Given the description of an element on the screen output the (x, y) to click on. 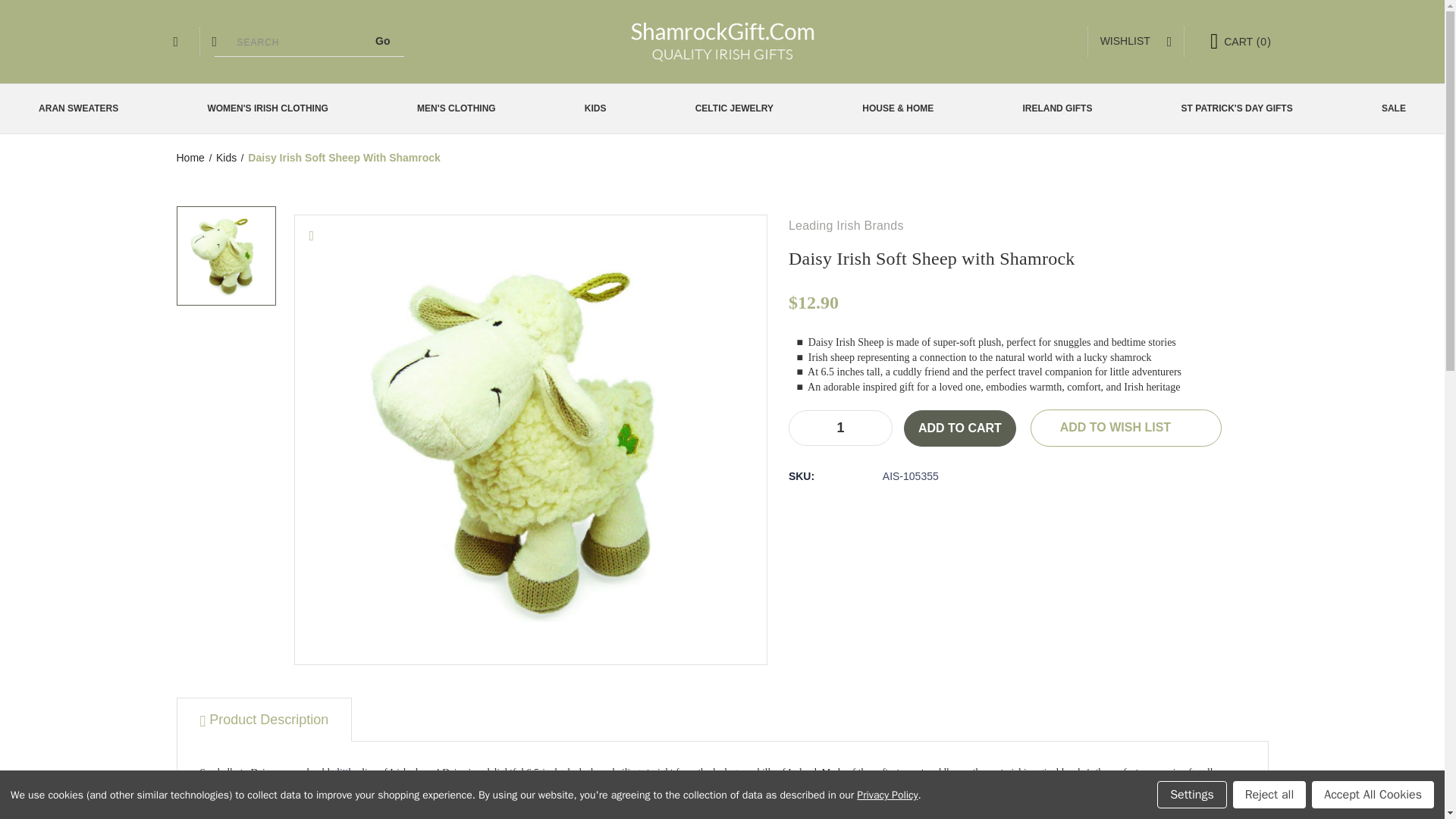
WISHLIST (1136, 41)
ARAN SWEATERS (83, 108)
MEN'S CLOTHING (462, 108)
WOMEN'S IRISH CLOTHING (273, 108)
Go (382, 40)
1 (840, 427)
Add to Cart (960, 428)
KIDS (601, 108)
Shamrock Gift (721, 41)
